Given the description of an element on the screen output the (x, y) to click on. 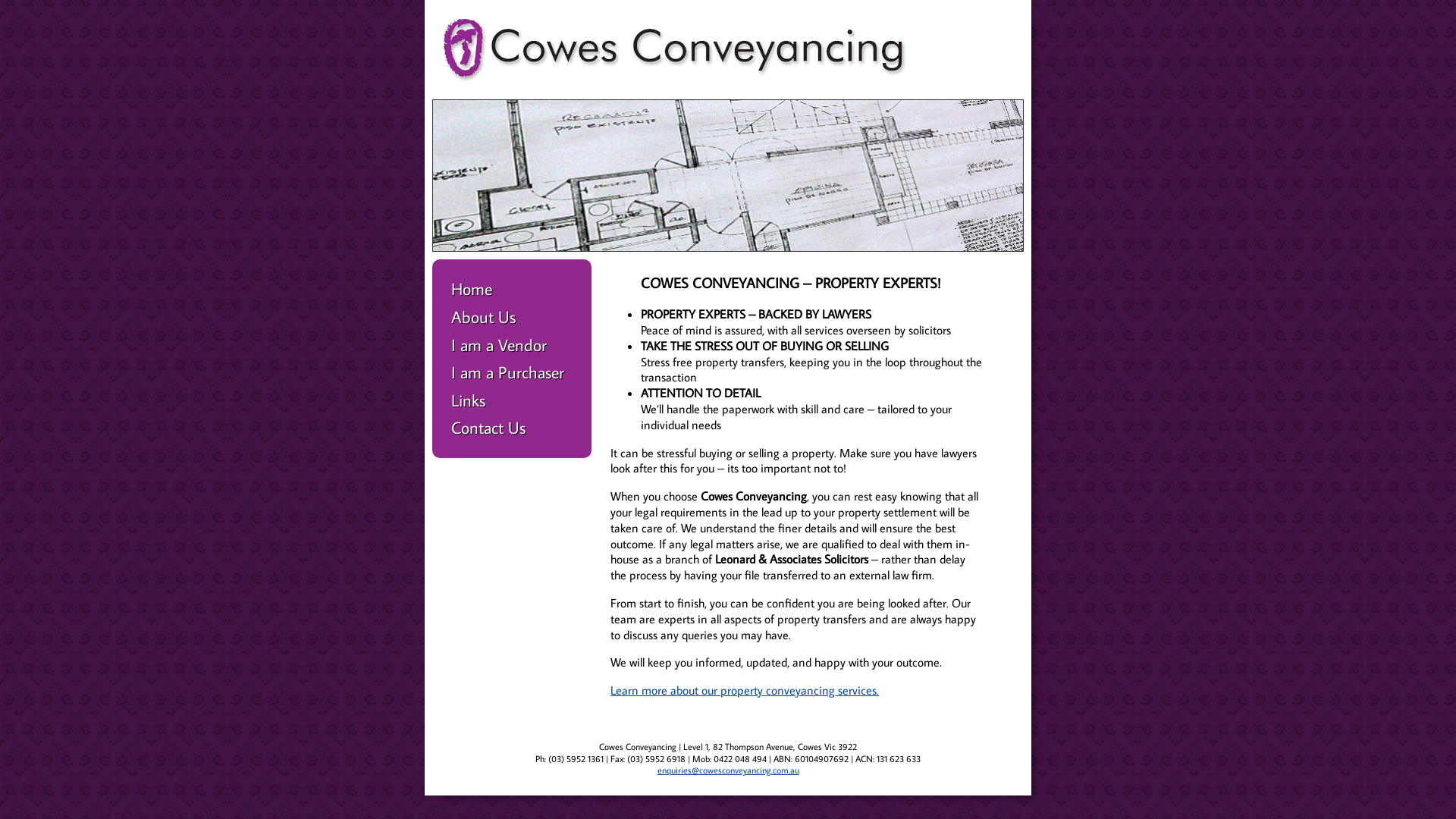
Home Element type: text (511, 289)
Links Element type: text (511, 400)
I am a Purchaser Element type: text (511, 372)
Learn more about our property conveyancing services. Element type: text (744, 689)
Contact Us Element type: text (511, 428)
I am a Vendor Element type: text (511, 345)
enquiries@cowesconveyancing.com.au Element type: text (727, 769)
About Us Element type: text (511, 317)
